Given the description of an element on the screen output the (x, y) to click on. 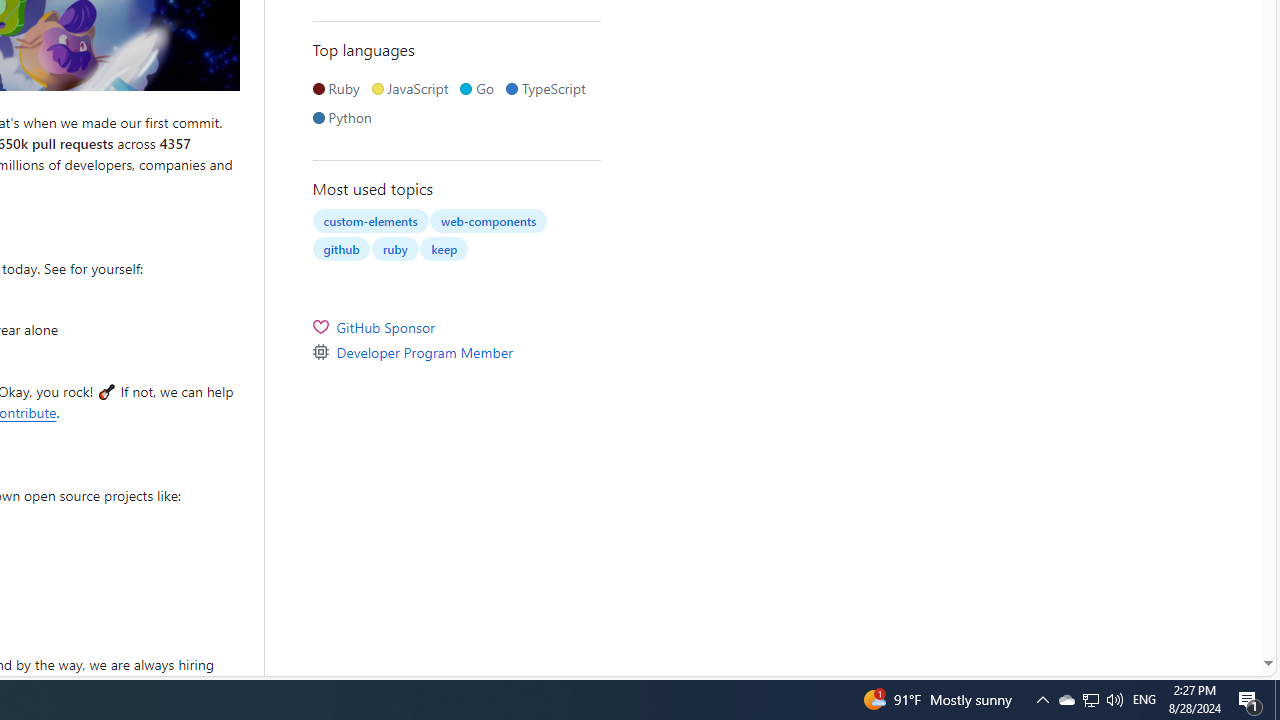
custom-elements (370, 220)
Python (346, 117)
Developer Program Member (456, 351)
GitHub Sponsor (456, 326)
keep (443, 248)
ruby (394, 248)
Go (480, 88)
JavaScript (413, 88)
TypeScript (549, 88)
github (341, 248)
Ruby (340, 88)
web-components (488, 220)
